Given the description of an element on the screen output the (x, y) to click on. 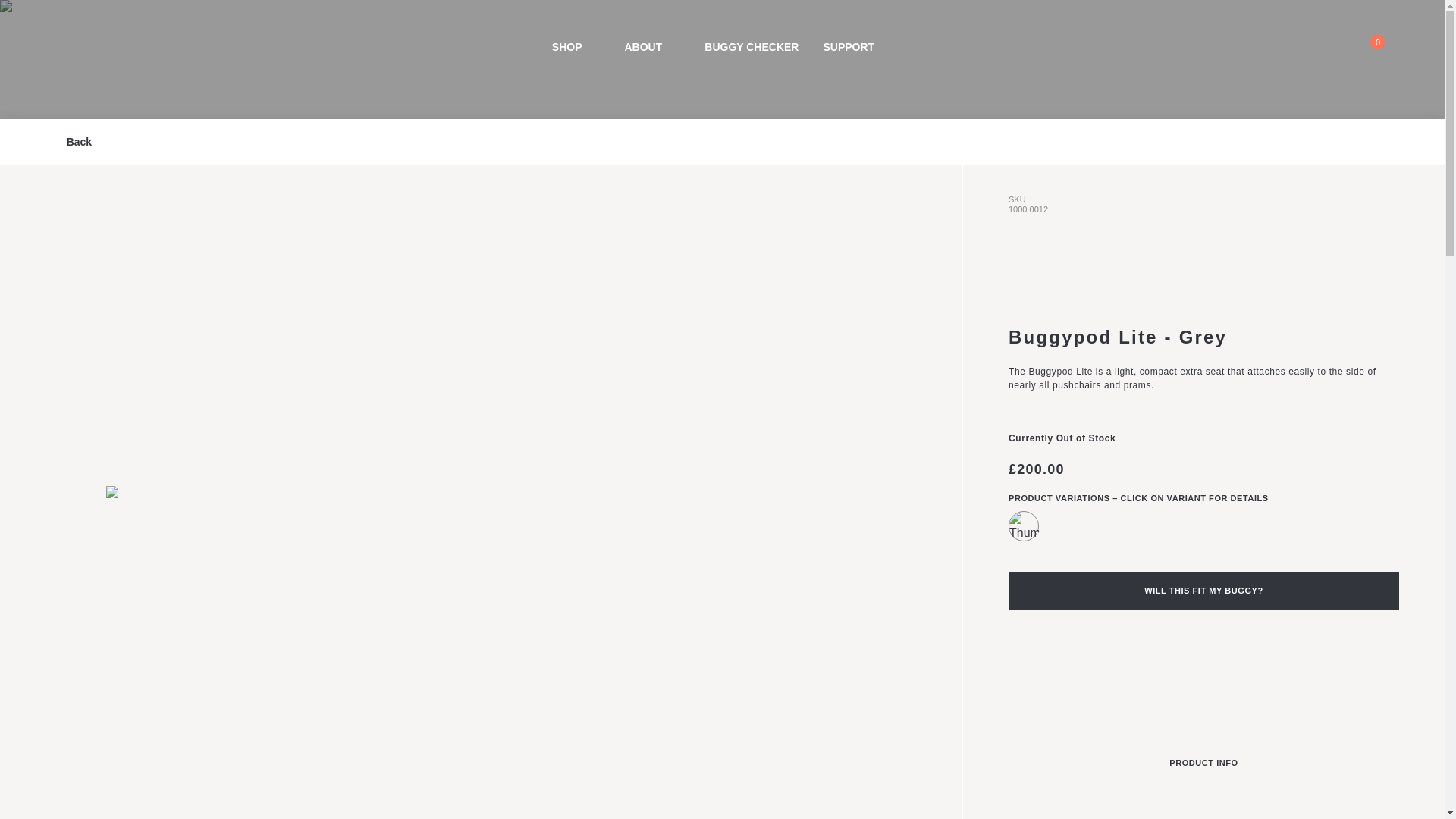
Buggypod (92, 46)
ABOUT (652, 46)
BUGGY CHECKER (750, 46)
Reload Cart (42, 14)
Update Cart (42, 14)
SHOP (575, 46)
grey.png (1024, 526)
Home (92, 46)
SUPPORT (857, 46)
